Given the description of an element on the screen output the (x, y) to click on. 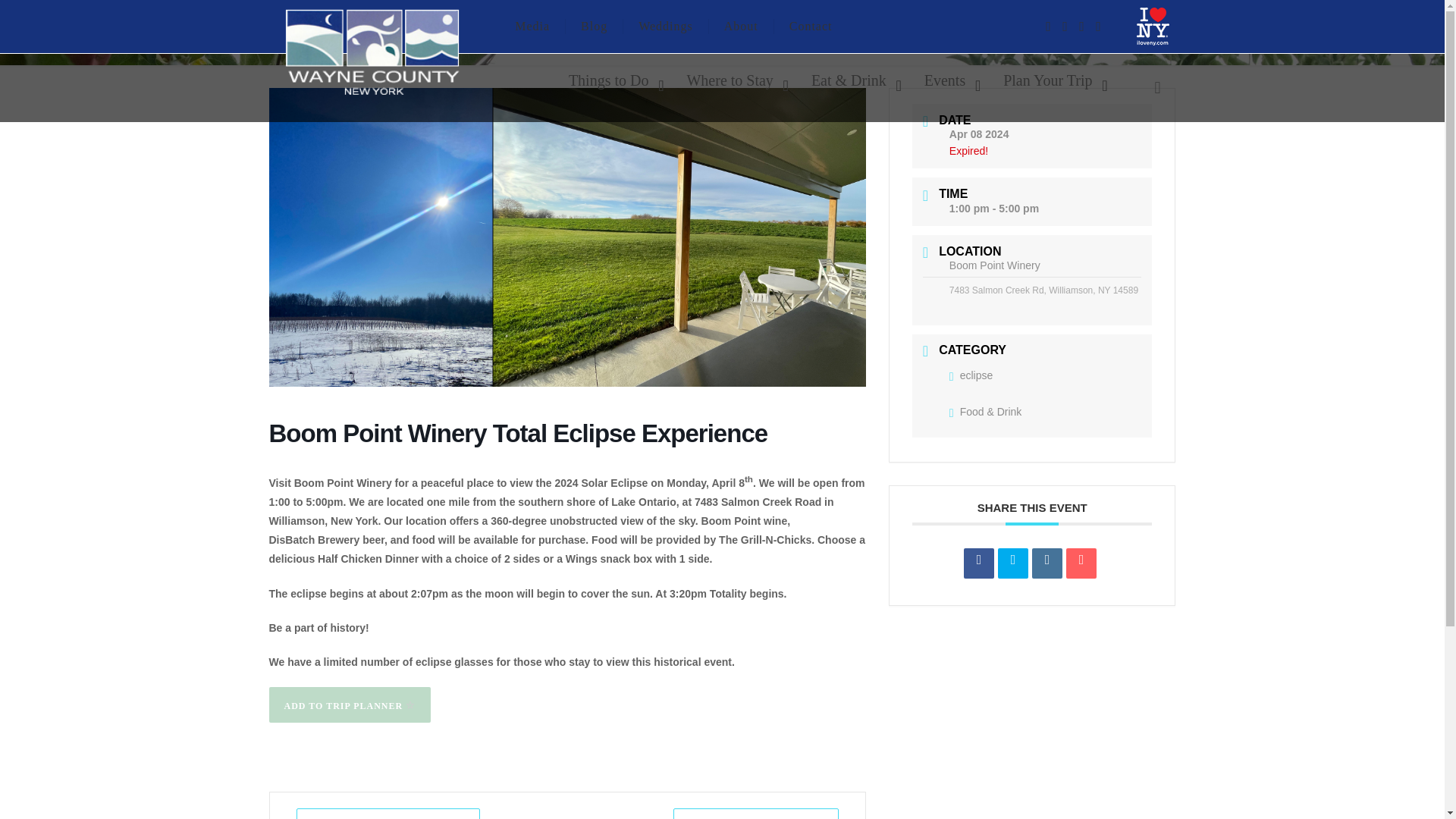
Email (1080, 562)
About (741, 26)
Things to Do (612, 80)
Weddings (666, 26)
Tweet (1012, 562)
Linkedin (1047, 562)
Share on Facebook (978, 562)
Media (532, 26)
Where to Stay (732, 80)
Contact (810, 26)
Blog (594, 26)
